Given the description of an element on the screen output the (x, y) to click on. 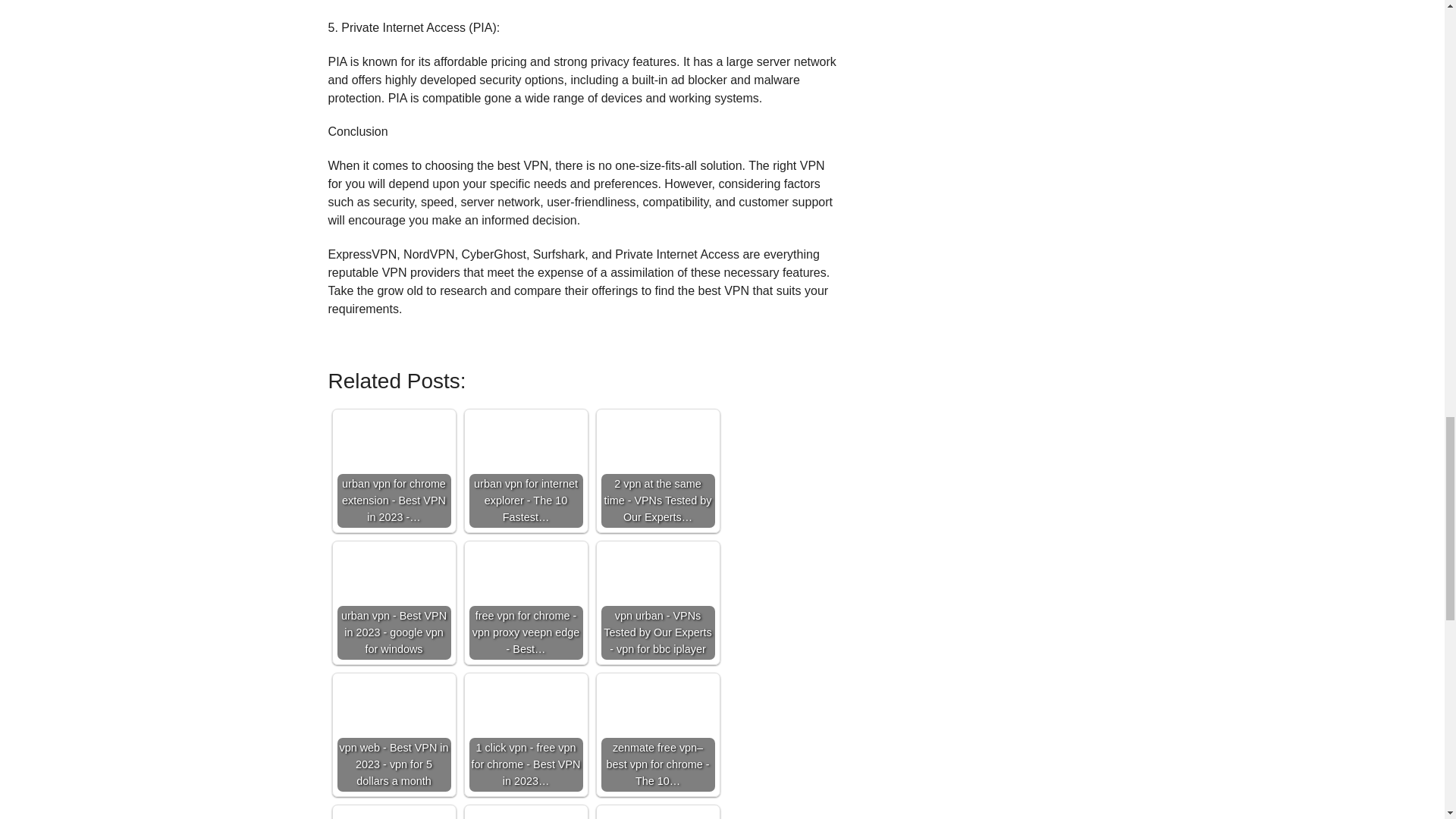
urban vpn - Best VPN in 2023 - google vpn for windows (392, 603)
vpn urban - VPNs Tested by Our Experts - vpn for bbc iplayer (656, 603)
vpn for vpn - Best VPN in 2023 - top 5 vpn for iphone (392, 814)
vpn web - Best VPN in 2023 - vpn for 5 dollars a month (392, 734)
